Given the description of an element on the screen output the (x, y) to click on. 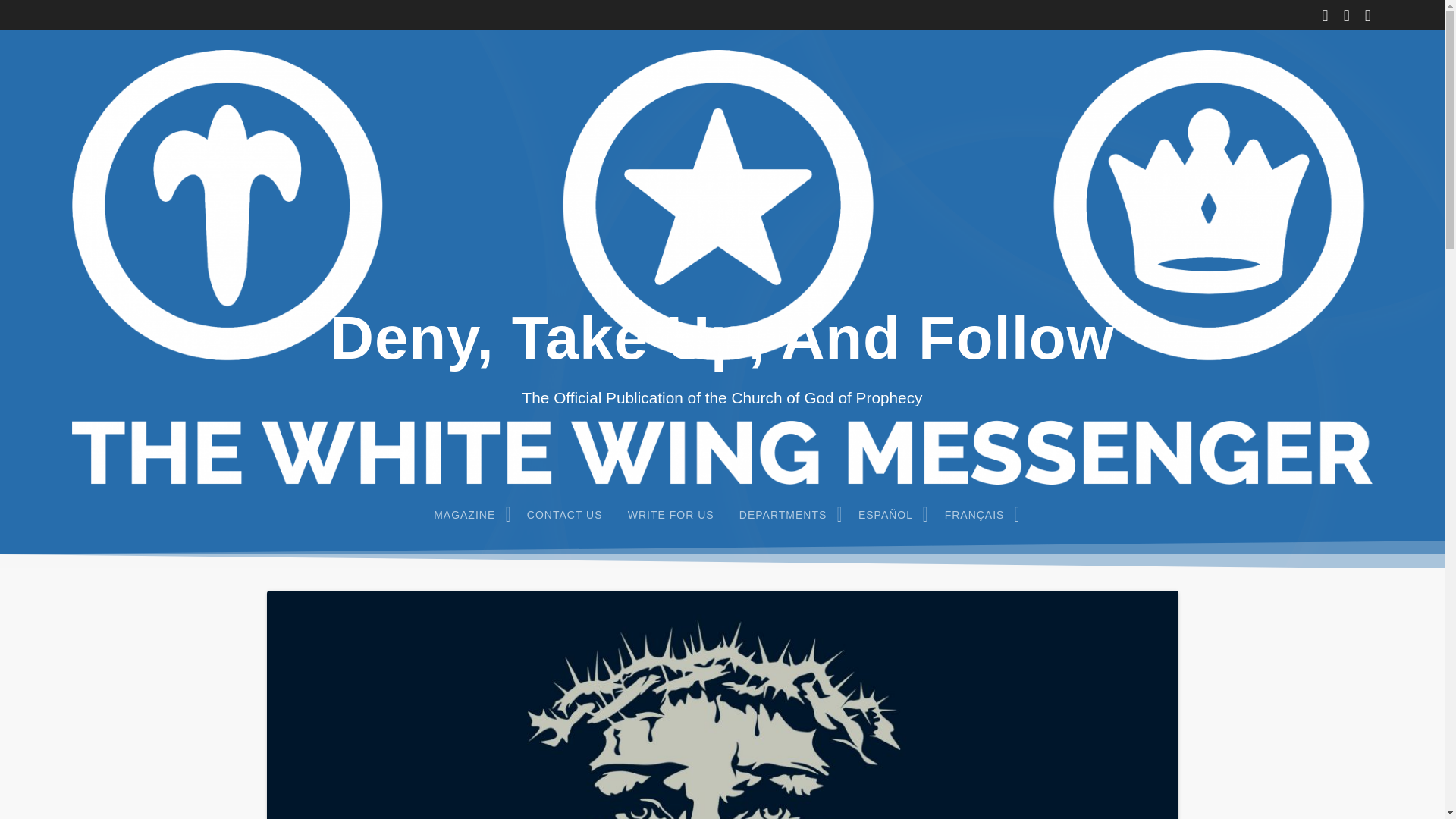
DEPARTMENTS (786, 514)
WRITE FOR US (670, 514)
MAGAZINE (468, 514)
CONTACT US (563, 514)
